Given the description of an element on the screen output the (x, y) to click on. 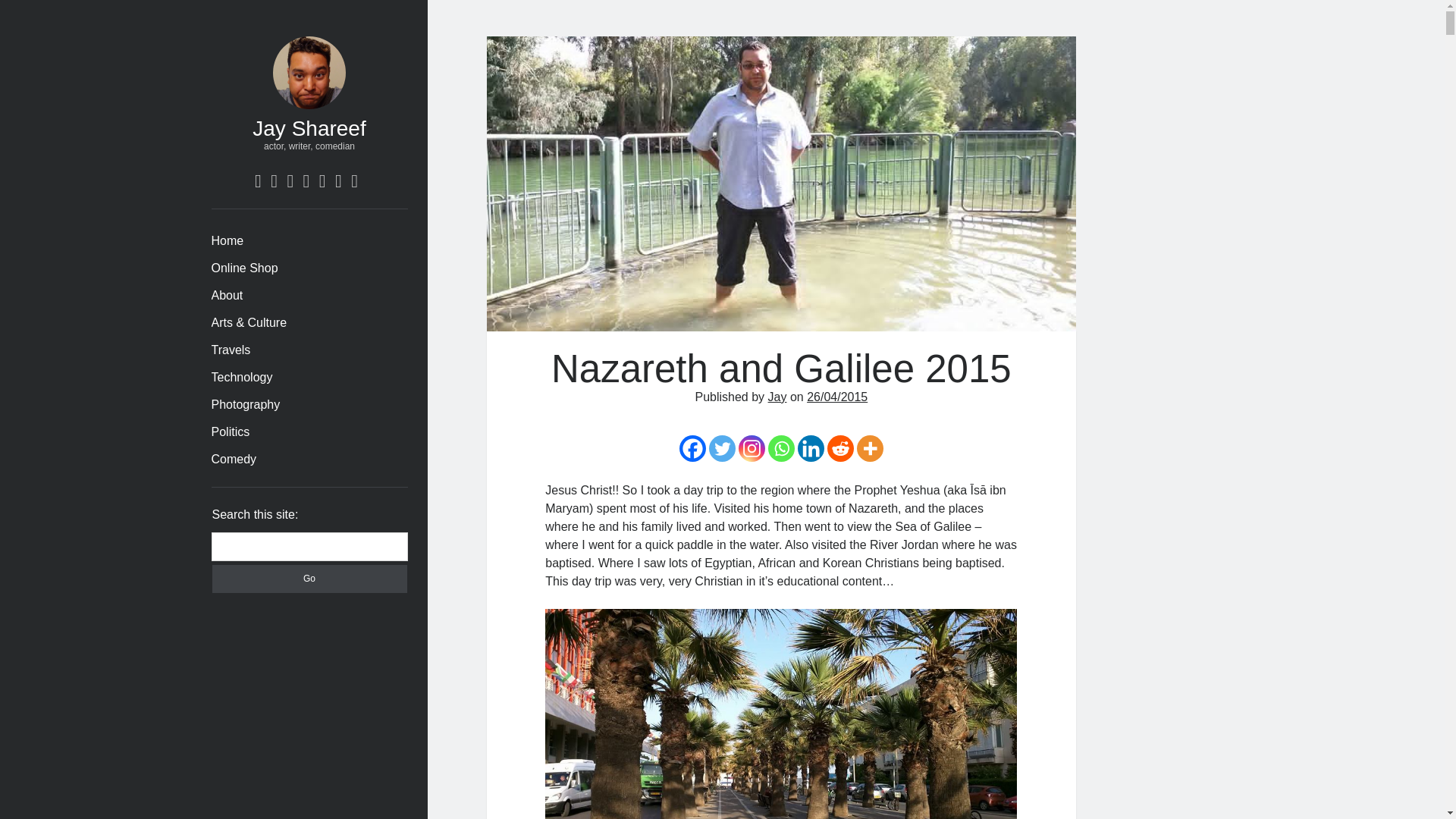
Politics (229, 432)
Instagram (751, 447)
Home (227, 240)
Jay Shareef (308, 128)
Travels (230, 350)
Go (309, 578)
Photography (245, 404)
Linkedin (810, 447)
Twitter (722, 447)
More (870, 447)
